Given the description of an element on the screen output the (x, y) to click on. 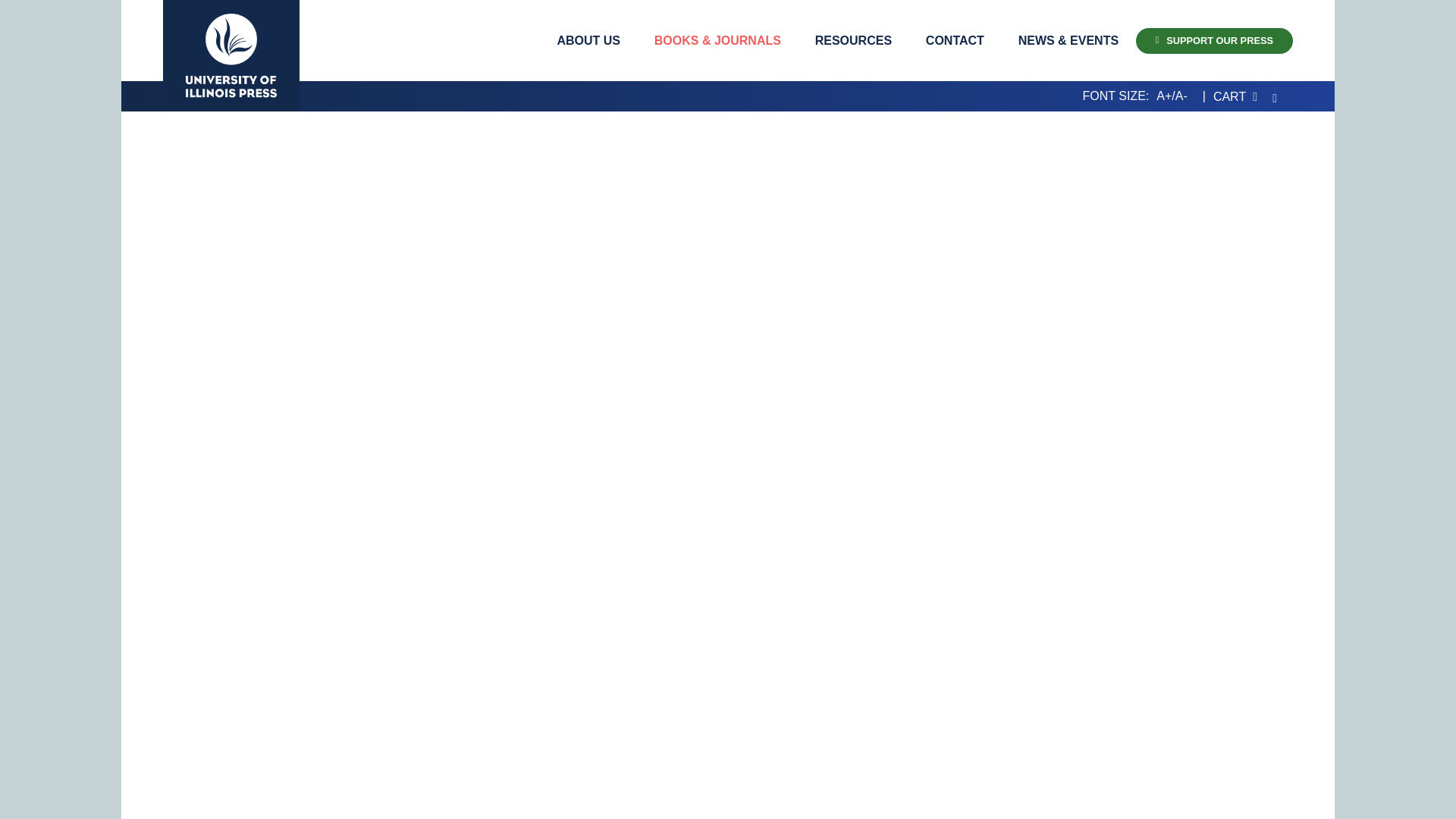
ABOUT US (588, 40)
RESOURCES (852, 40)
University Press (231, 55)
